Given the description of an element on the screen output the (x, y) to click on. 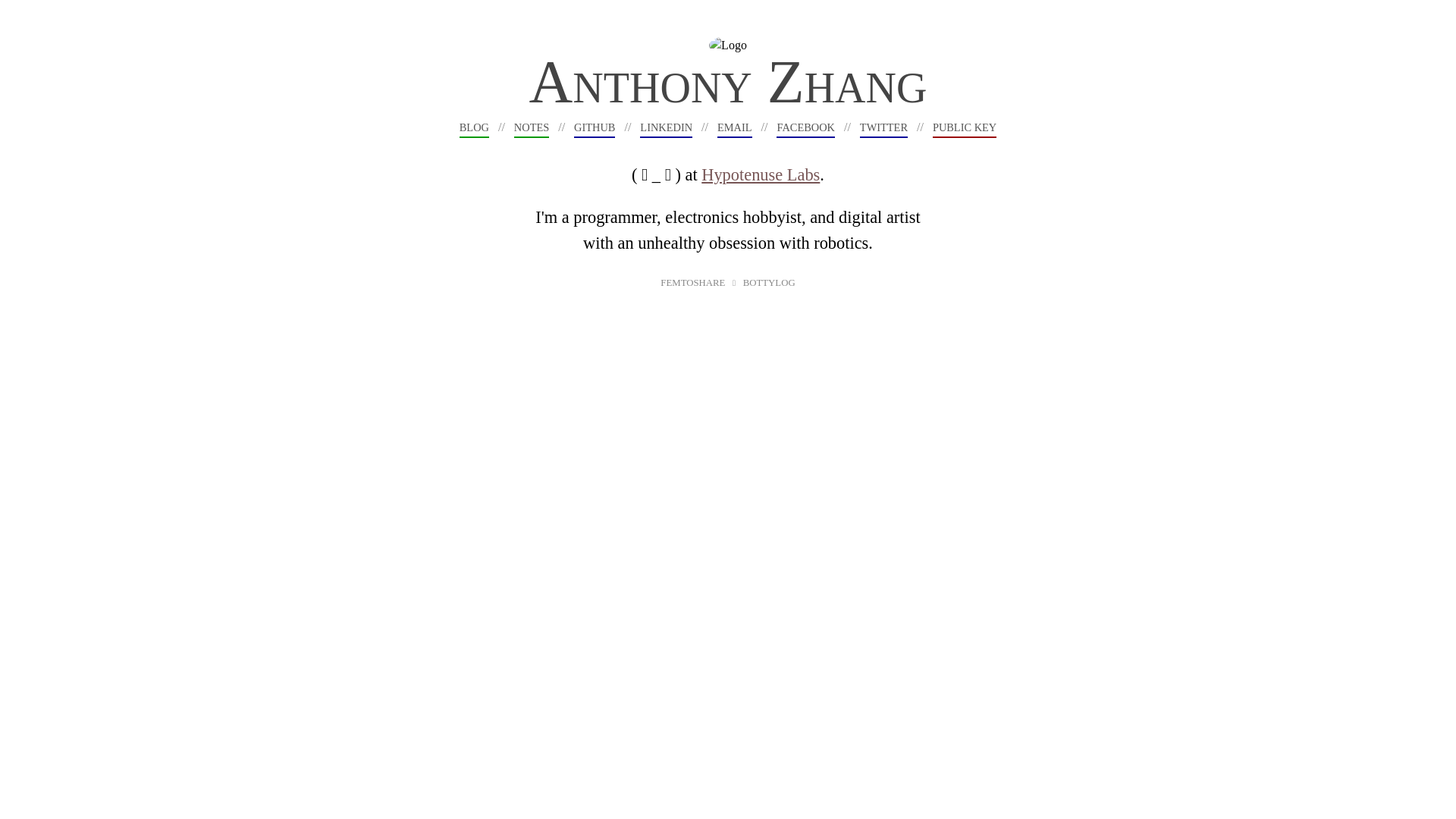
BOTTYLOG Element type: text (769, 282)
TWITTER Element type: text (883, 126)
Hypotenuse Labs Element type: text (760, 174)
PUBLIC KEY Element type: text (964, 126)
FEMTOSHARE Element type: text (692, 282)
LINKEDIN Element type: text (666, 126)
FACEBOOK Element type: text (805, 126)
GITHUB Element type: text (594, 126)
BLOG Element type: text (474, 126)
NOTES Element type: text (531, 126)
EMAIL Element type: text (734, 126)
